Given the description of an element on the screen output the (x, y) to click on. 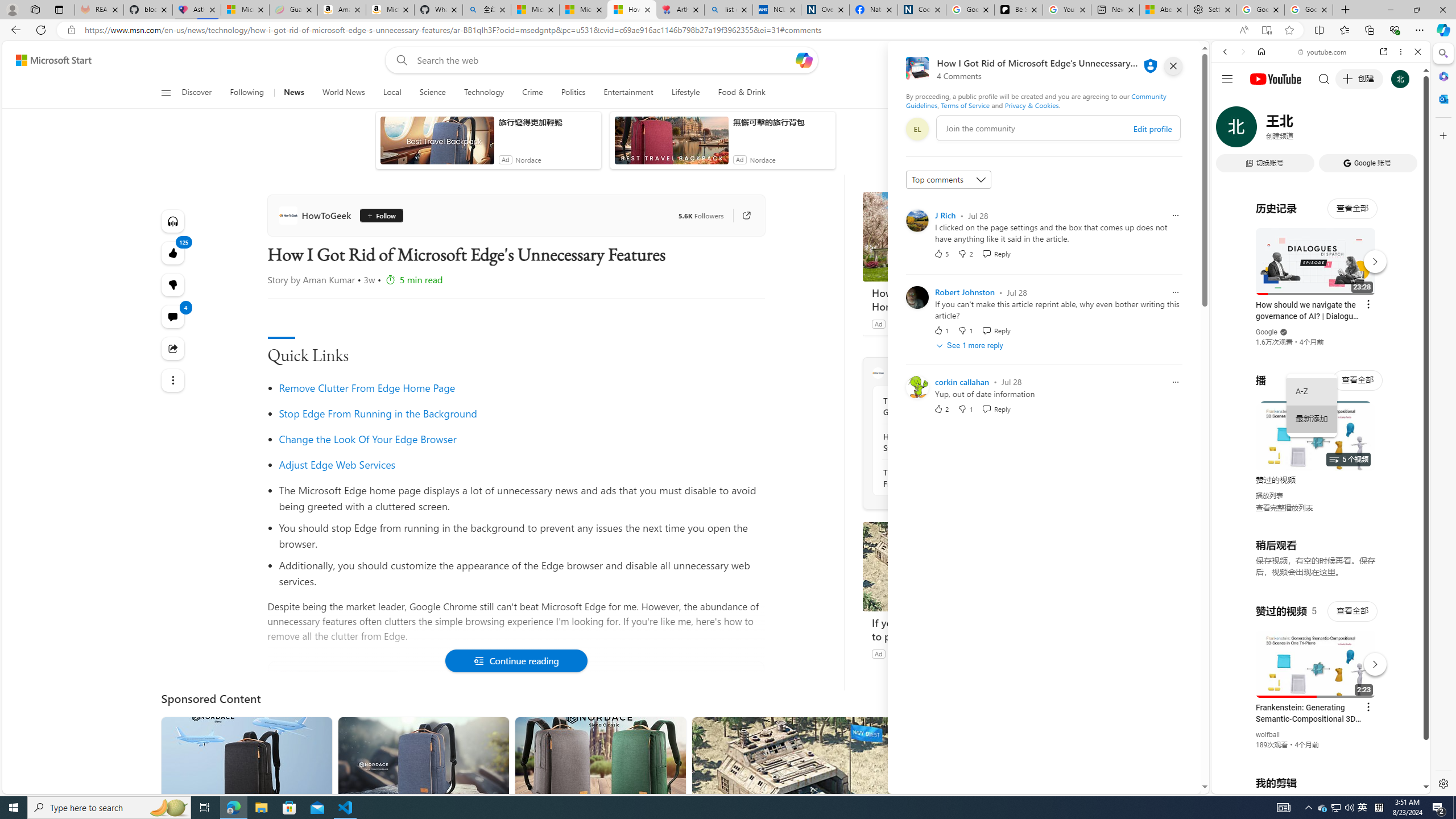
Reply Reply Comment (995, 408)
HowToGeek (317, 215)
anim-content (671, 144)
Aberdeen, Hong Kong SAR hourly forecast | Microsoft Weather (1163, 9)
Trailer #2 [HD] (1320, 336)
